Given the description of an element on the screen output the (x, y) to click on. 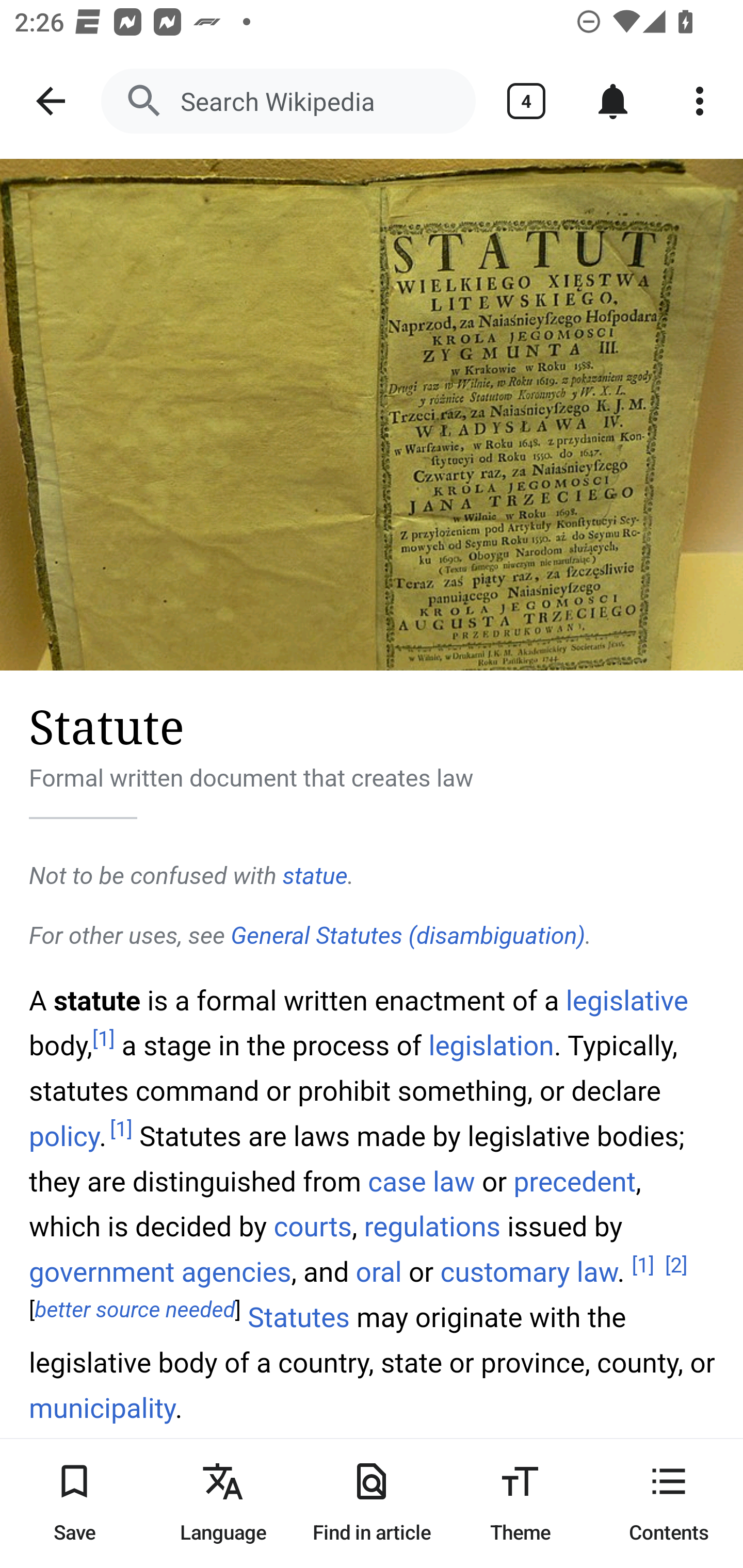
Show tabs 4 (525, 100)
Notifications (612, 100)
Navigate up (50, 101)
More options (699, 101)
Search Wikipedia (288, 100)
Image: Statute (371, 414)
statue (314, 876)
General Statutes (disambiguation) (407, 935)
legislative (626, 1000)
[] [ 1 ] (103, 1038)
legislation (490, 1045)
[] [ 1 ] (120, 1129)
policy (64, 1136)
case law (421, 1180)
precedent (574, 1180)
courts (312, 1225)
regulations (432, 1225)
[] [ 1 ] (642, 1264)
[] [ 2 ] (676, 1264)
government agencies (160, 1272)
oral (377, 1272)
customary law (528, 1272)
better source needed better   source   needed (135, 1310)
Statutes (298, 1318)
municipality (102, 1409)
Save (74, 1502)
Language (222, 1502)
Find in article (371, 1502)
Theme (519, 1502)
Contents (668, 1502)
